Given the description of an element on the screen output the (x, y) to click on. 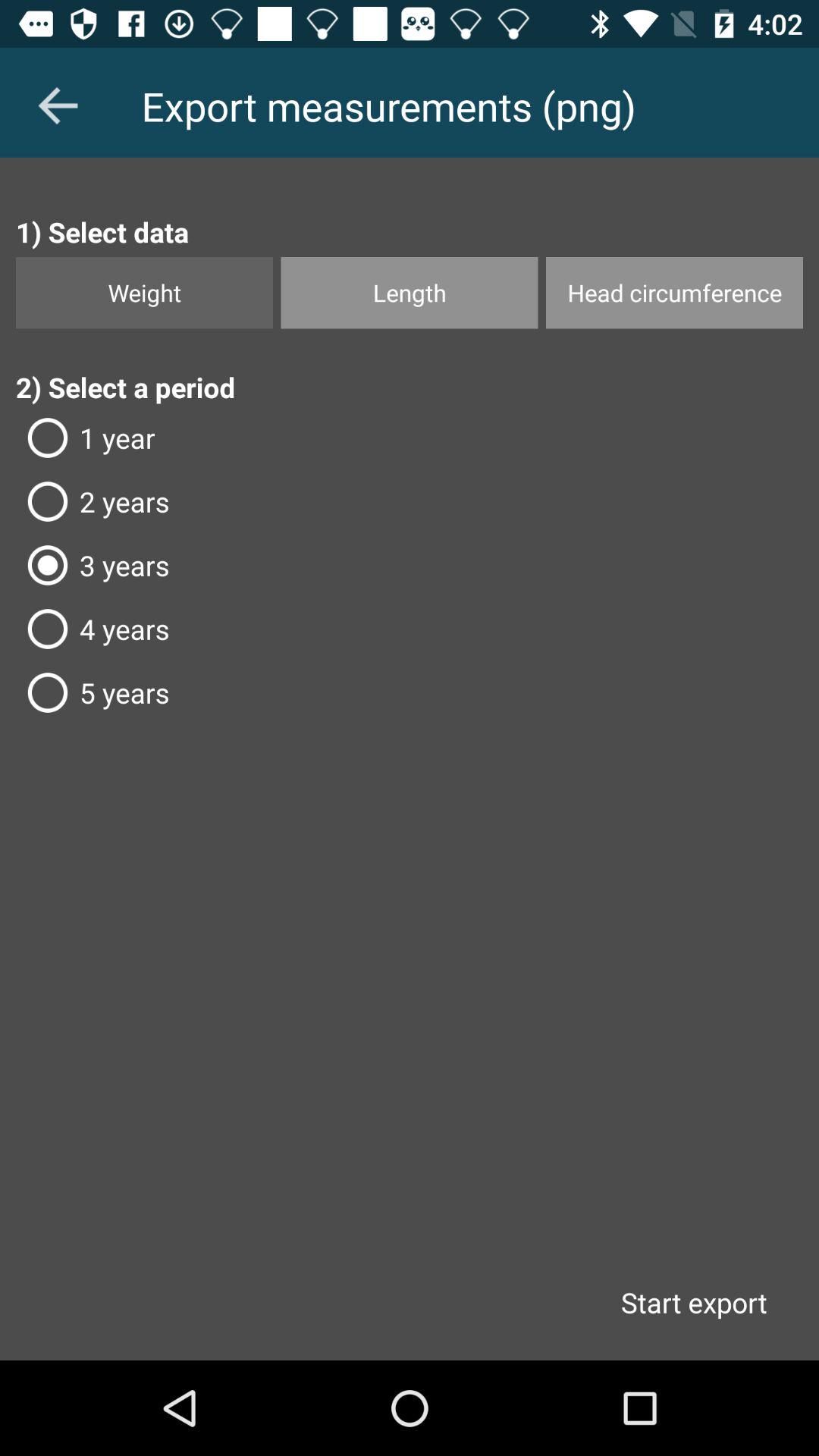
click the 1 year item (409, 437)
